Given the description of an element on the screen output the (x, y) to click on. 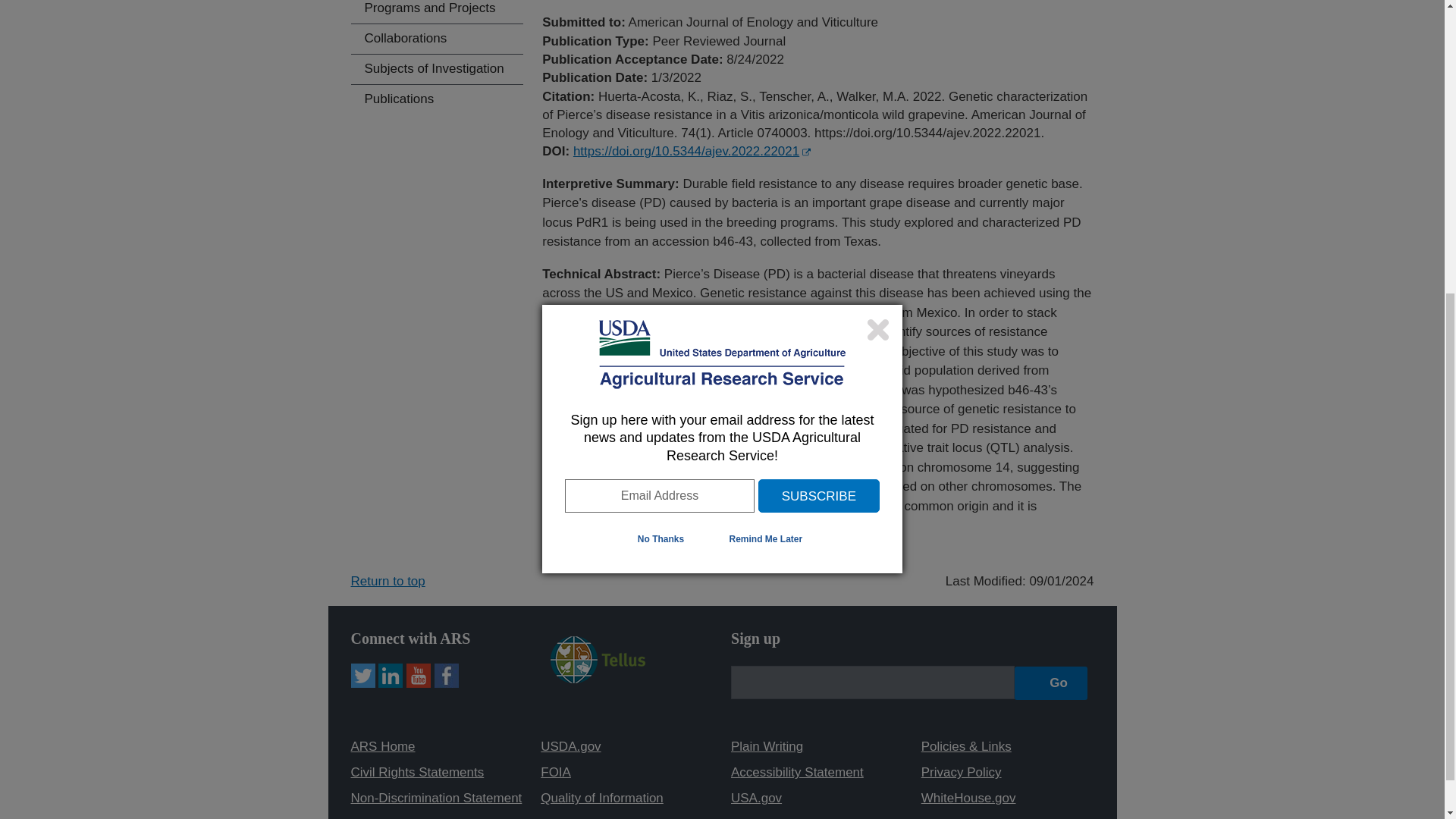
Youtube (418, 675)
Tellus (597, 658)
Twitter (362, 675)
Facebook Icon (445, 675)
email (872, 682)
Go (1050, 683)
Subscribe (818, 20)
Email Address (659, 20)
Tellus (597, 659)
LinkedIn (390, 675)
